Given the description of an element on the screen output the (x, y) to click on. 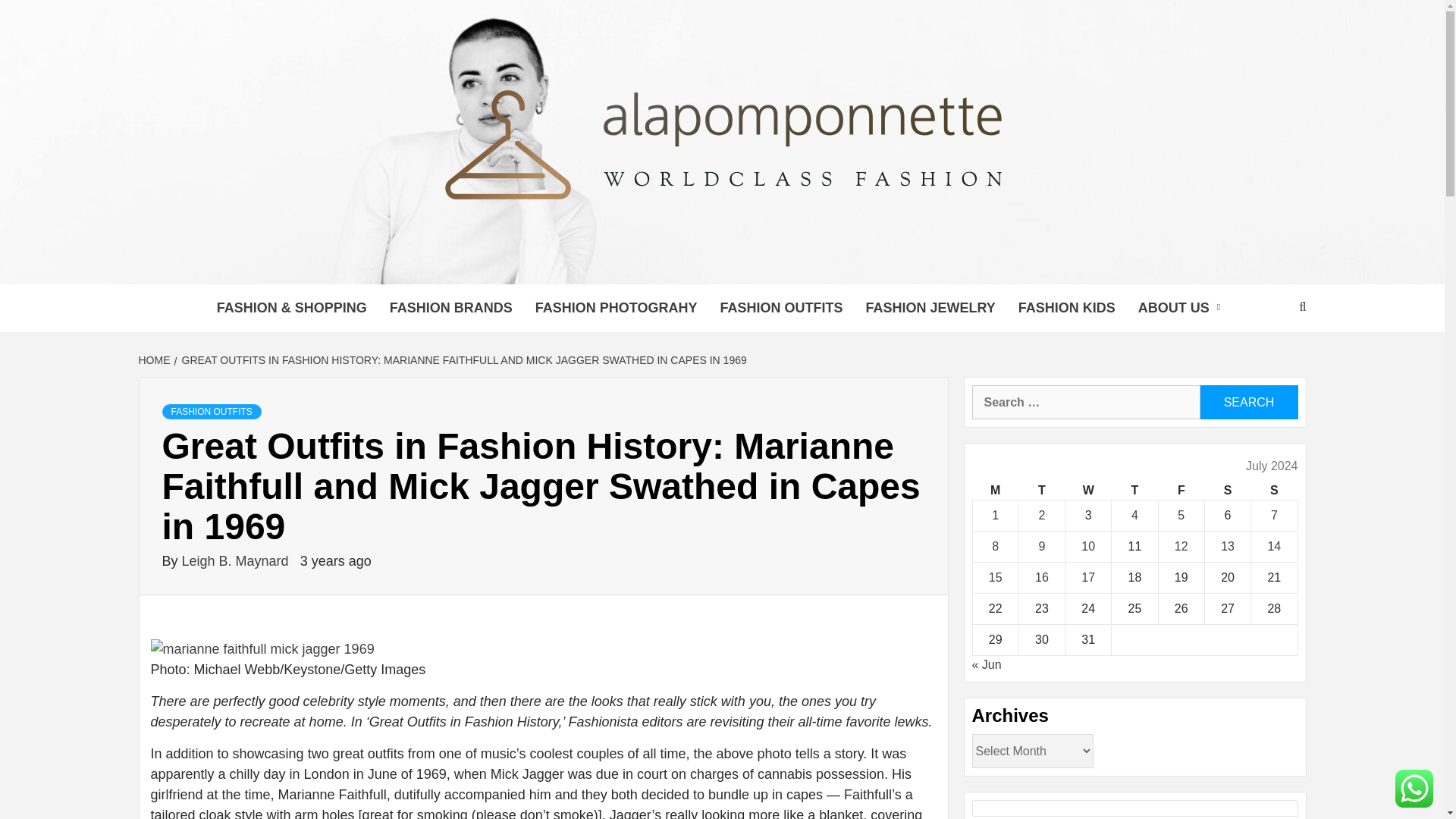
FASHION BRANDS (451, 308)
Saturday (1227, 490)
FASHION OUTFITS (211, 411)
Search (1248, 401)
Search (1248, 401)
FASHION PHOTOGRAHY (616, 308)
FASHION OUTFITS (780, 308)
Wednesday (1088, 490)
Tuesday (1040, 490)
2 (1041, 514)
Friday (1180, 490)
FASHION KIDS (1066, 308)
7 (1274, 514)
HOME (155, 359)
5 (1181, 514)
